Given the description of an element on the screen output the (x, y) to click on. 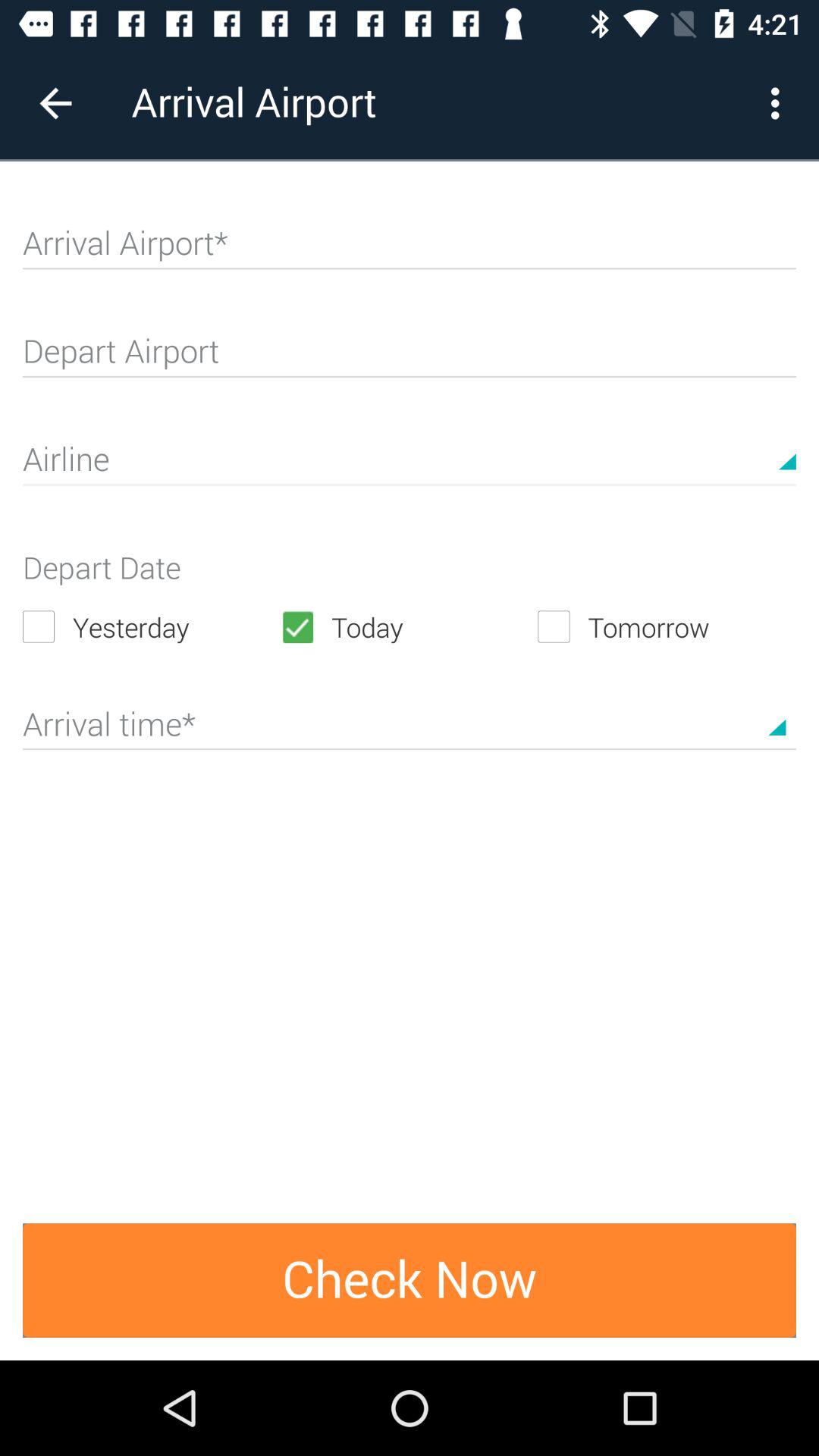
scroll until check now icon (409, 1280)
